Given the description of an element on the screen output the (x, y) to click on. 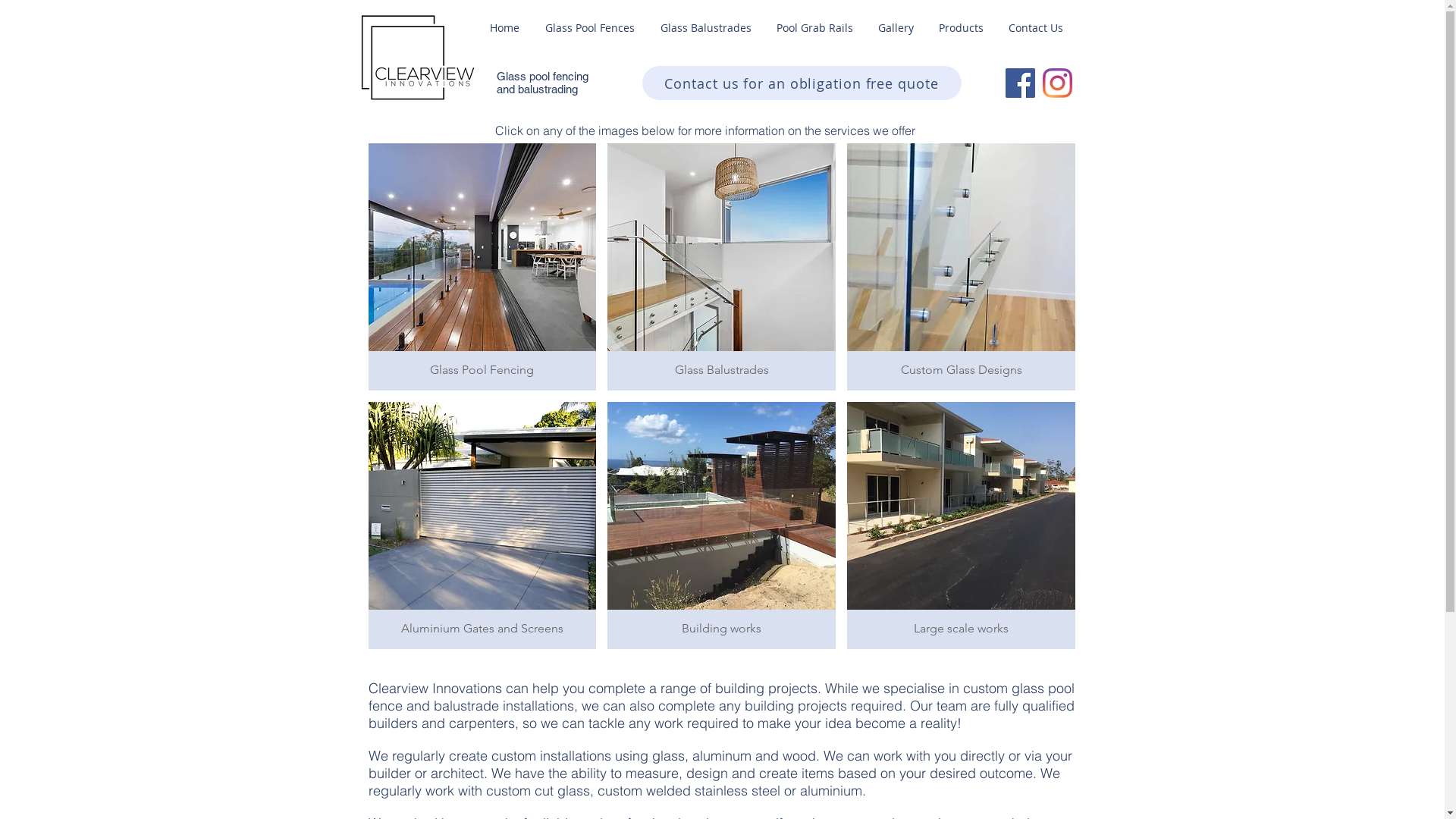
Glass pool fencing Element type: text (541, 75)
Gallery Element type: text (896, 27)
Contact us for an obligation free quote Element type: text (800, 82)
Glass Balustrades Element type: text (705, 27)
Home Element type: text (503, 27)
Products Element type: text (961, 27)
Glass Pool Fences Element type: text (589, 27)
Contact Us Element type: text (1036, 27)
Pool Grab Rails Element type: text (815, 27)
